Given the description of an element on the screen output the (x, y) to click on. 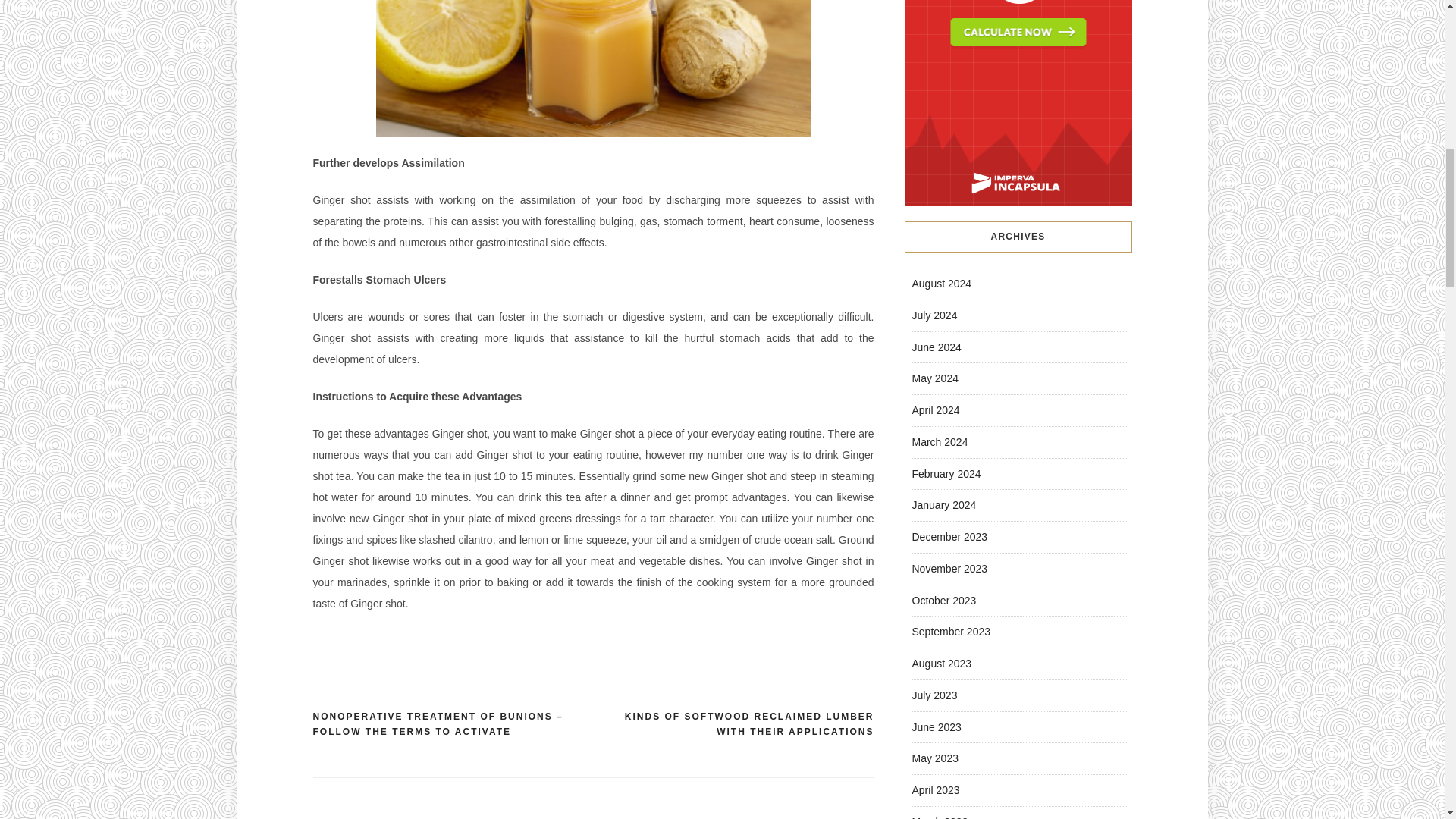
March 2024 (939, 441)
May 2024 (934, 378)
April 2024 (935, 410)
June 2024 (935, 346)
November 2023 (949, 568)
KINDS OF SOFTWOOD RECLAIMED LUMBER WITH THEIR APPLICATIONS (732, 724)
December 2023 (949, 536)
May 2023 (934, 758)
July 2023 (933, 695)
July 2024 (933, 315)
